Given the description of an element on the screen output the (x, y) to click on. 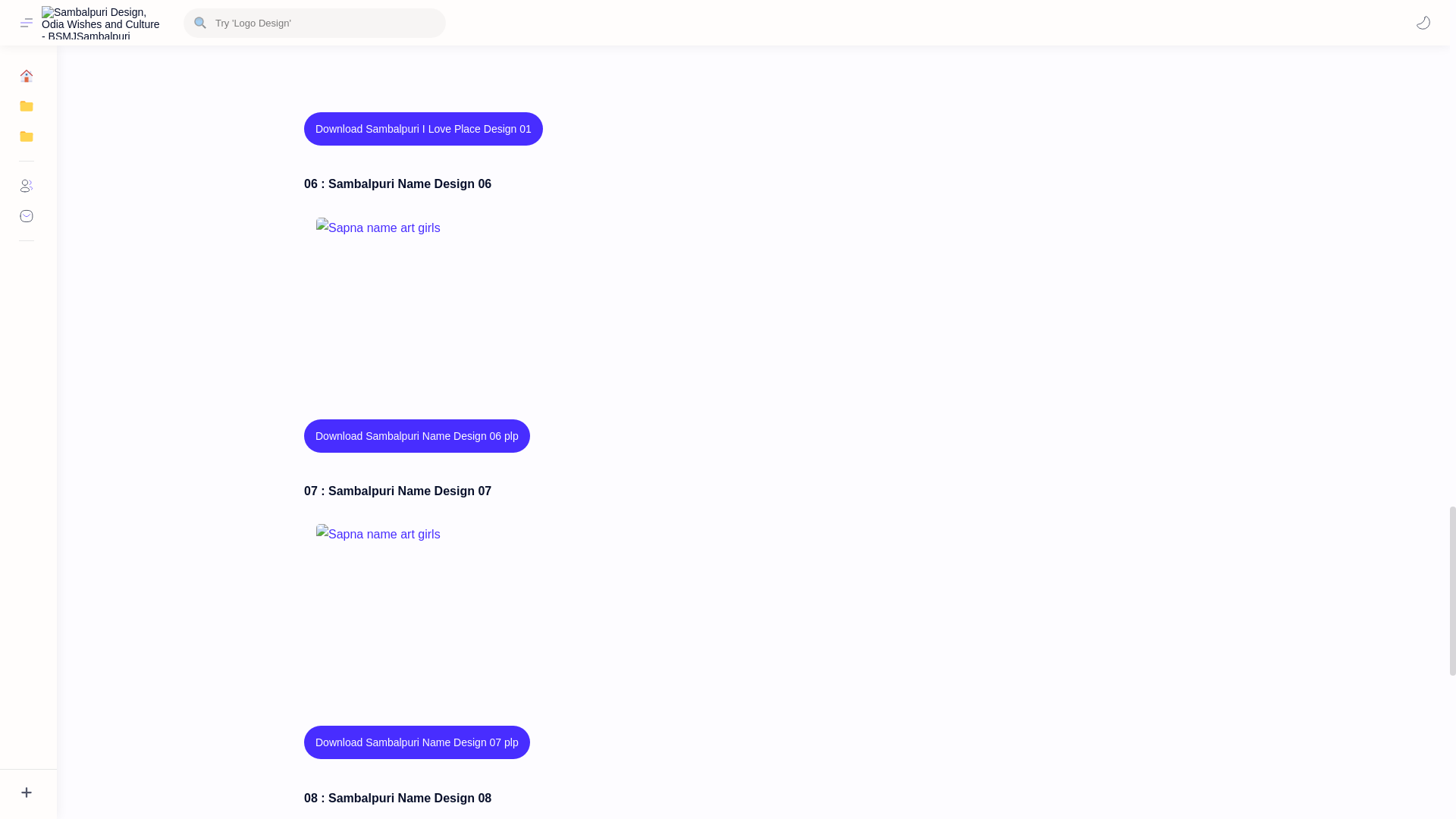
I love sambalpur (391, 31)
Sapna name art girls (391, 293)
Sapna name art girls (391, 599)
